Given the description of an element on the screen output the (x, y) to click on. 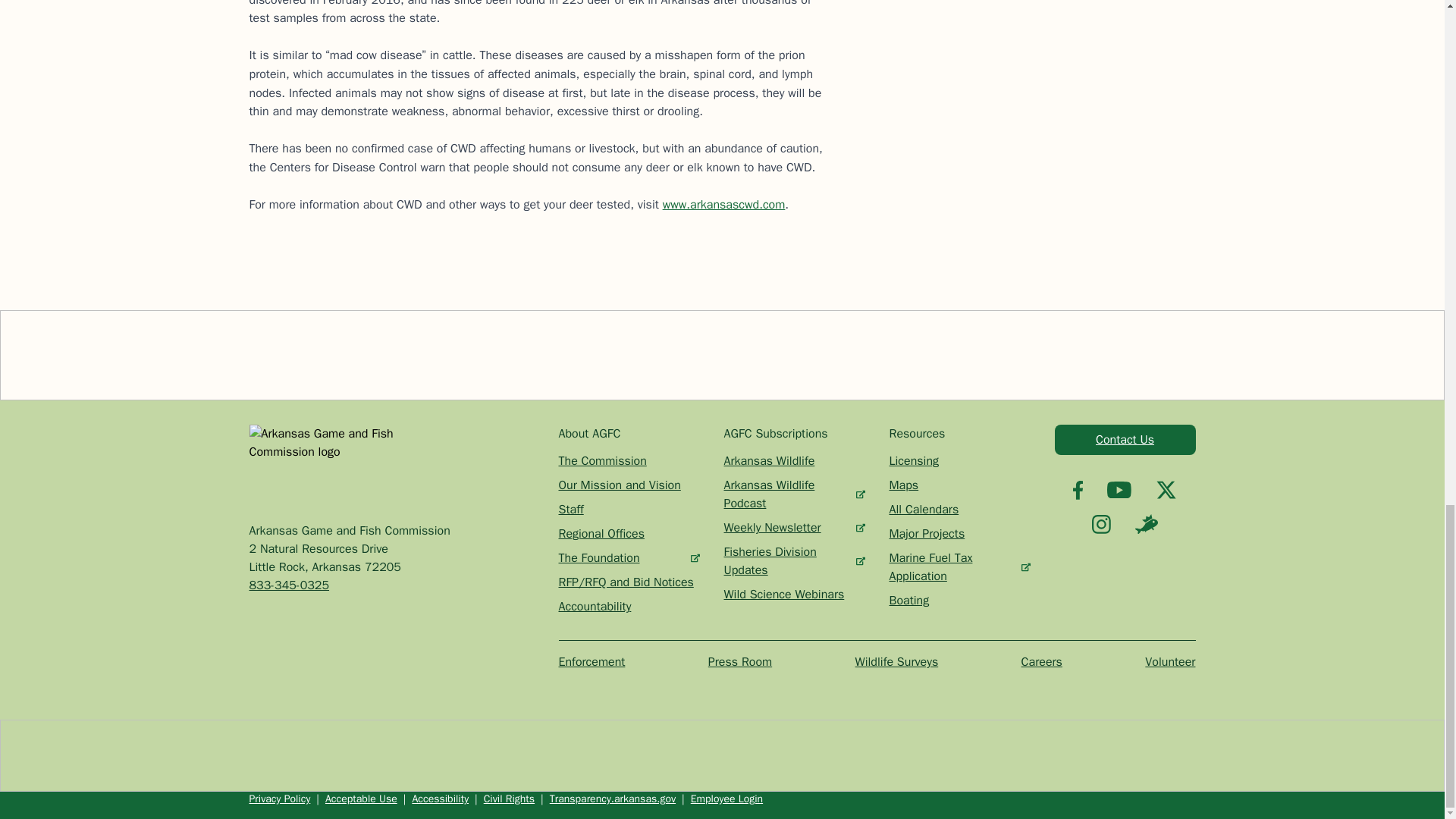
Fishbrain (1146, 523)
YouTube (1118, 489)
Instagram (1101, 524)
Twitter (1166, 489)
